Given the description of an element on the screen output the (x, y) to click on. 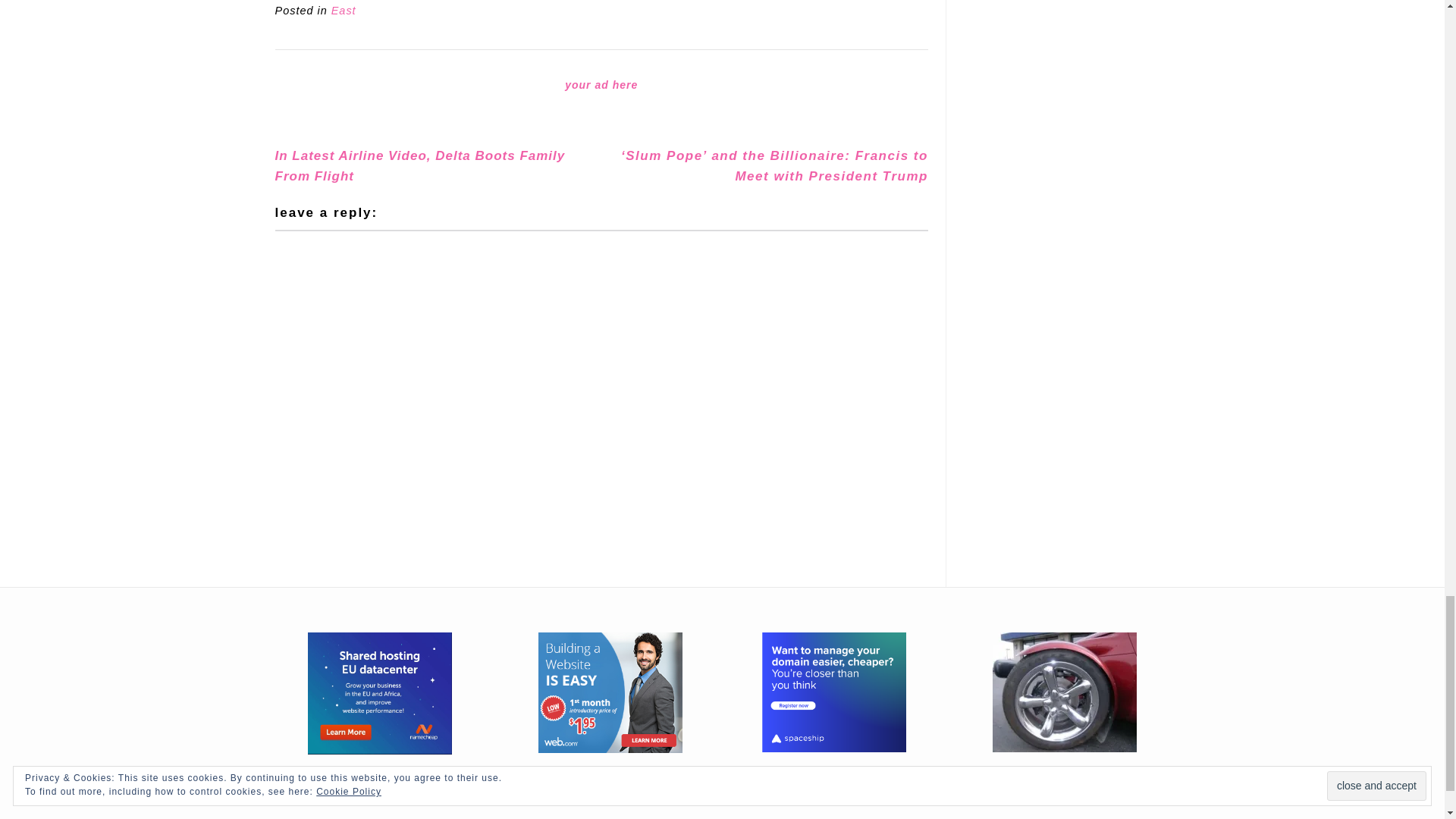
East (343, 10)
your ad here (600, 84)
In Latest Airline Video, Delta Boots Family From Flight (419, 165)
